Given the description of an element on the screen output the (x, y) to click on. 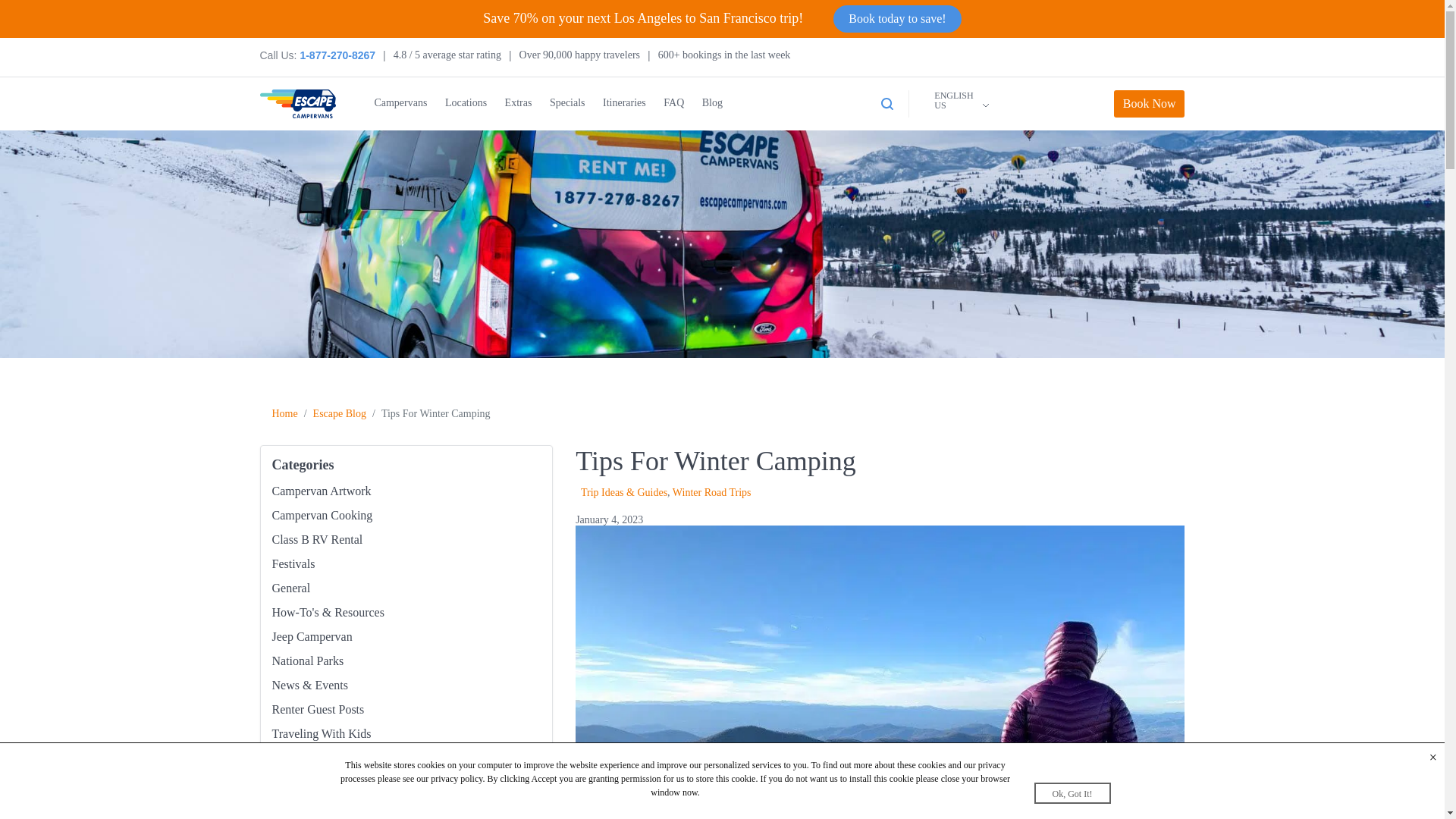
Specials (567, 103)
Book Now (1149, 103)
1-877-270-8267 (337, 54)
Locations (465, 103)
Itineraries (624, 103)
Extras (518, 103)
Campervan Artwork (320, 490)
Blog (711, 103)
FAQ (673, 103)
ENGLISH US (952, 100)
Book today to save! (896, 18)
Campervans (400, 103)
Home (283, 413)
Escape Blog (339, 413)
